Given the description of an element on the screen output the (x, y) to click on. 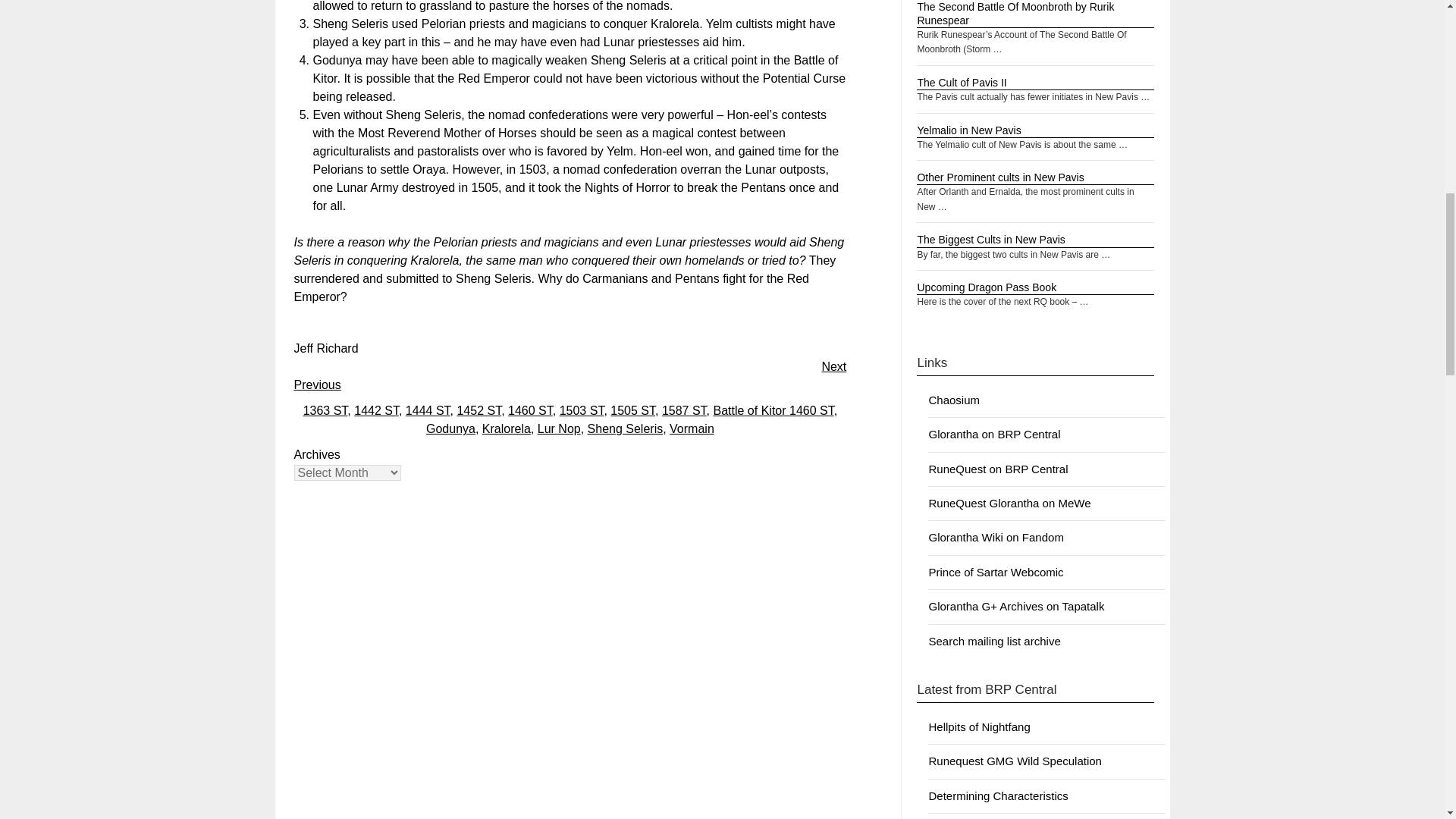
Sheng Seleris (625, 428)
Next (833, 366)
1460 ST (530, 410)
Lur Nop (558, 428)
1505 ST (632, 410)
Kralorela (506, 428)
Battle of Kitor 1460 ST (772, 410)
Vormain (691, 428)
Godunya (451, 428)
The Second Battle Of Moonbroth by Rurik Runespear (1015, 13)
1503 ST (581, 410)
Previous (317, 384)
1587 ST (684, 410)
1444 ST (427, 410)
1442 ST (375, 410)
